Given the description of an element on the screen output the (x, y) to click on. 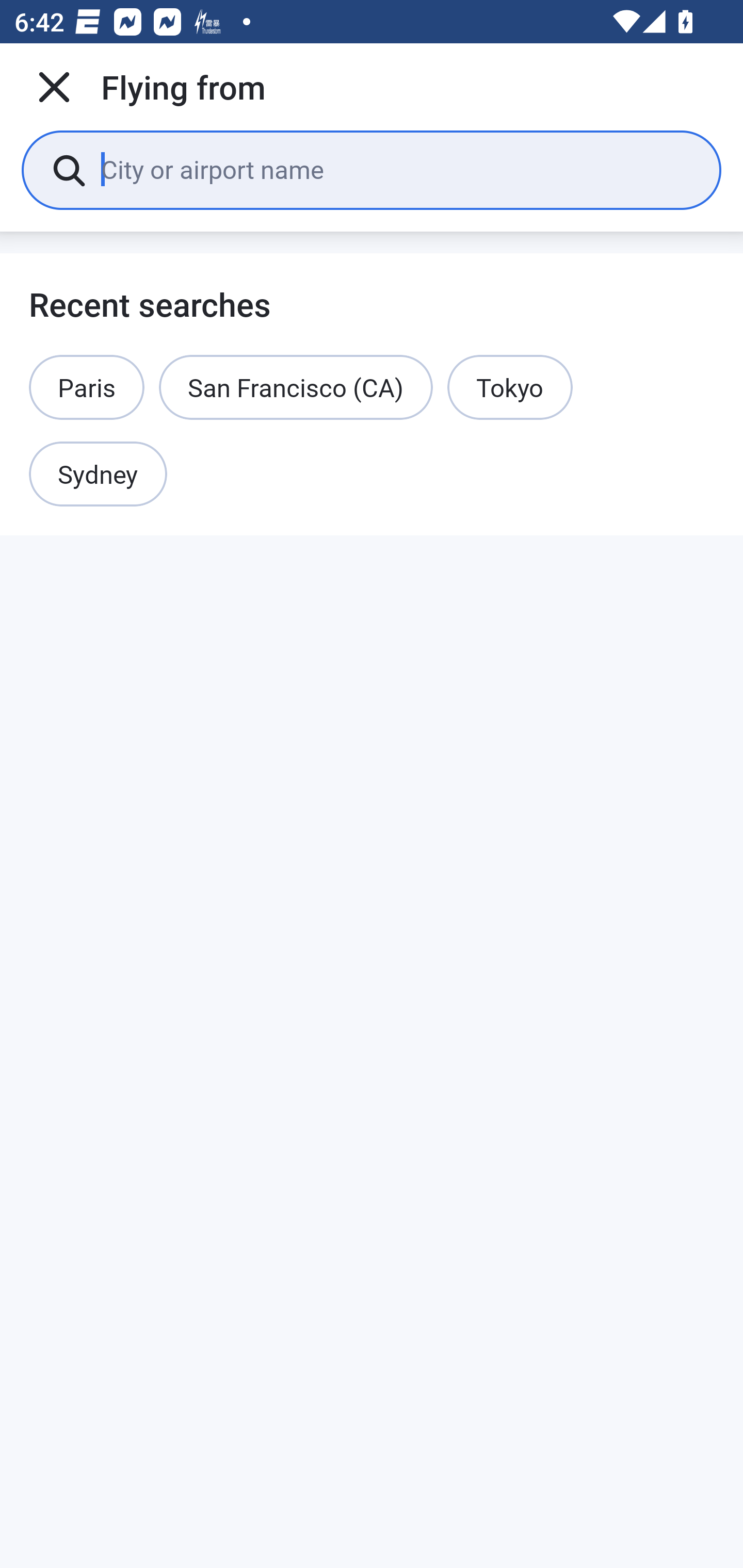
City or airport name (396, 169)
Paris (86, 387)
San Francisco (CA) (296, 387)
Tokyo (509, 387)
Sydney (97, 474)
